Given the description of an element on the screen output the (x, y) to click on. 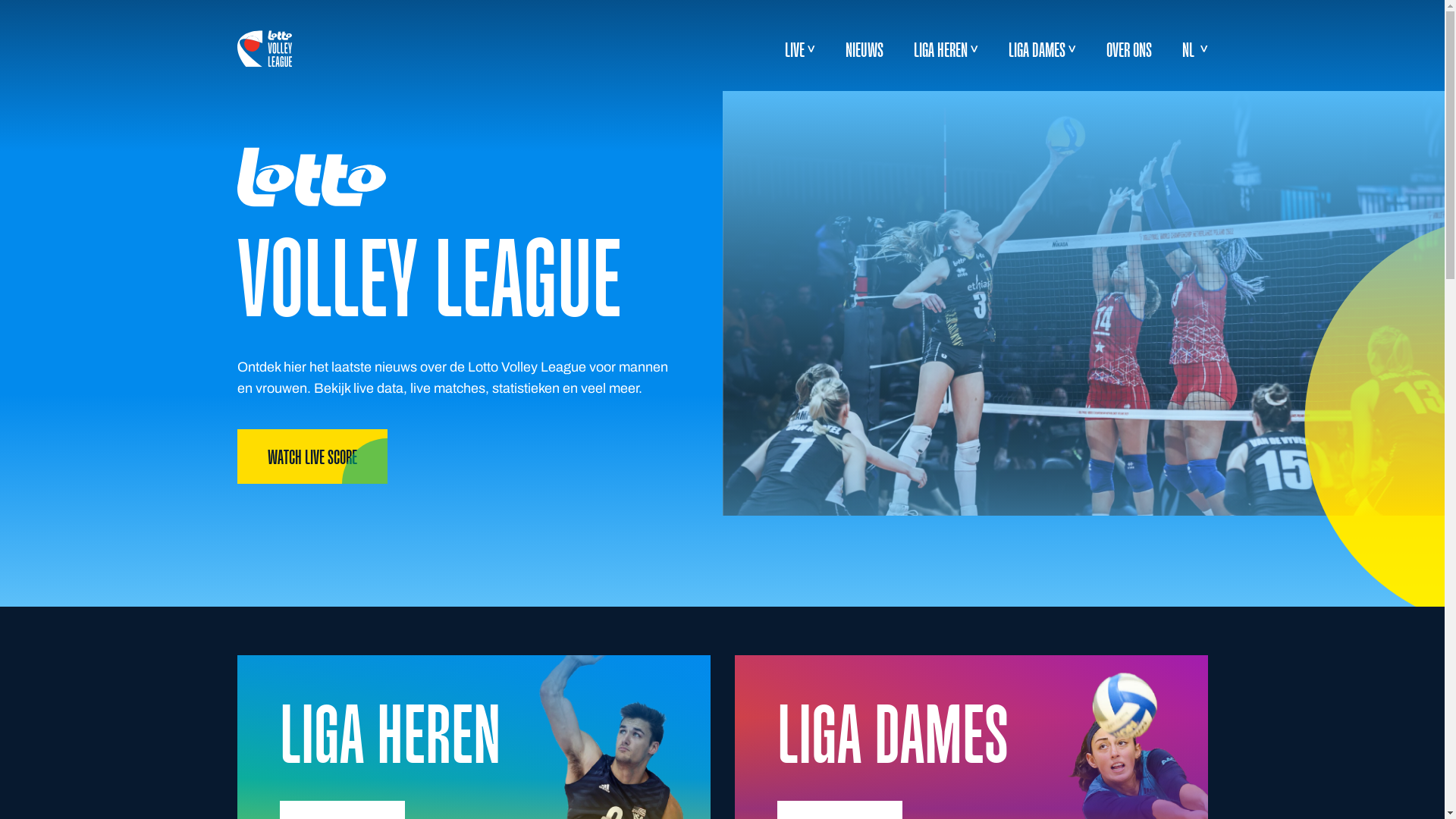
NL Element type: text (1194, 48)
WATCH LIVE SCORE Element type: text (311, 456)
LIVE Element type: text (793, 48)
LIGA DAMES Element type: text (1036, 48)
logo-white Element type: text (263, 48)
LIGA HEREN Element type: text (939, 48)
NIEUWS Element type: text (863, 48)
OVER ONS Element type: text (1128, 48)
